Given the description of an element on the screen output the (x, y) to click on. 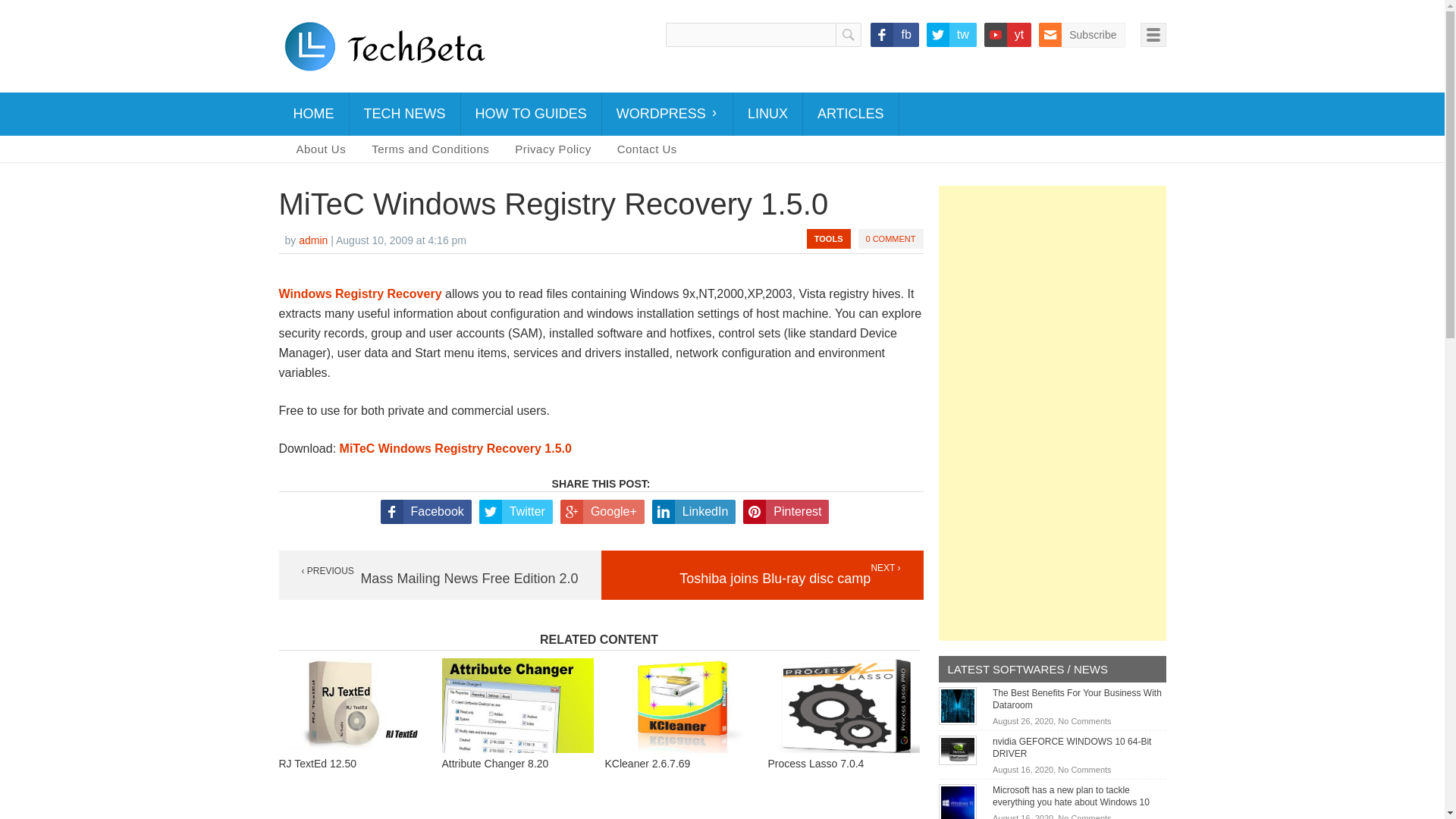
TECH NEWS (404, 113)
HOME (314, 113)
The Best Benefits For Your Business With Dataroom (957, 705)
View all posts by admin (312, 240)
HOW TO GUIDES (531, 113)
nvidia GEFORCE WINDOWS 10 64-Bit DRIVER (1071, 747)
Open Menu (1153, 34)
tw (951, 34)
WORDPRESS (667, 113)
